Given the description of an element on the screen output the (x, y) to click on. 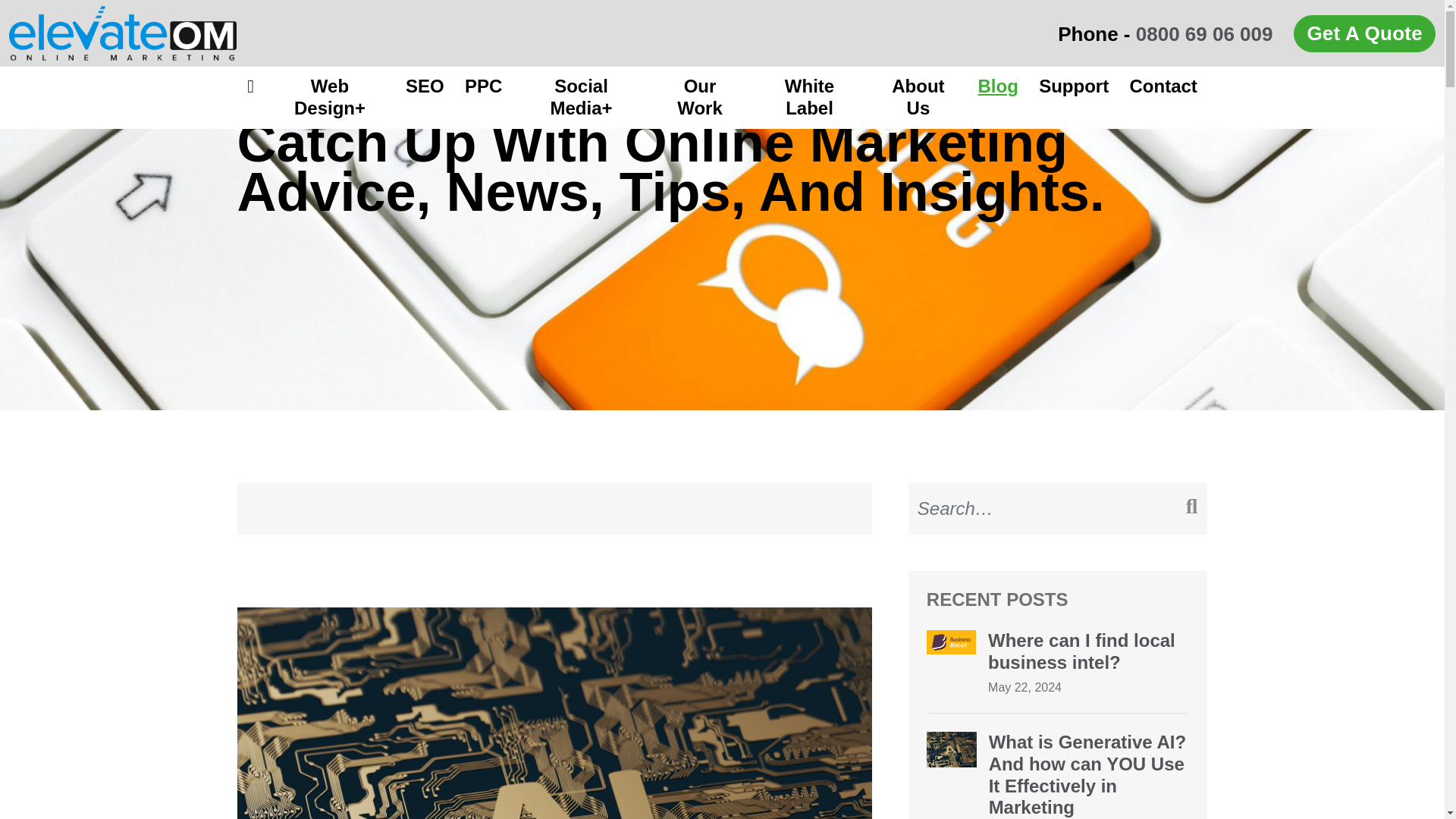
Get A Quote (1364, 33)
Blog (998, 86)
Our Work (699, 97)
Contact (1163, 86)
SEO (424, 86)
PPC (483, 86)
White Label (809, 97)
0800 69 06 009 (1203, 33)
Support (1072, 86)
About Us (918, 97)
